Given the description of an element on the screen output the (x, y) to click on. 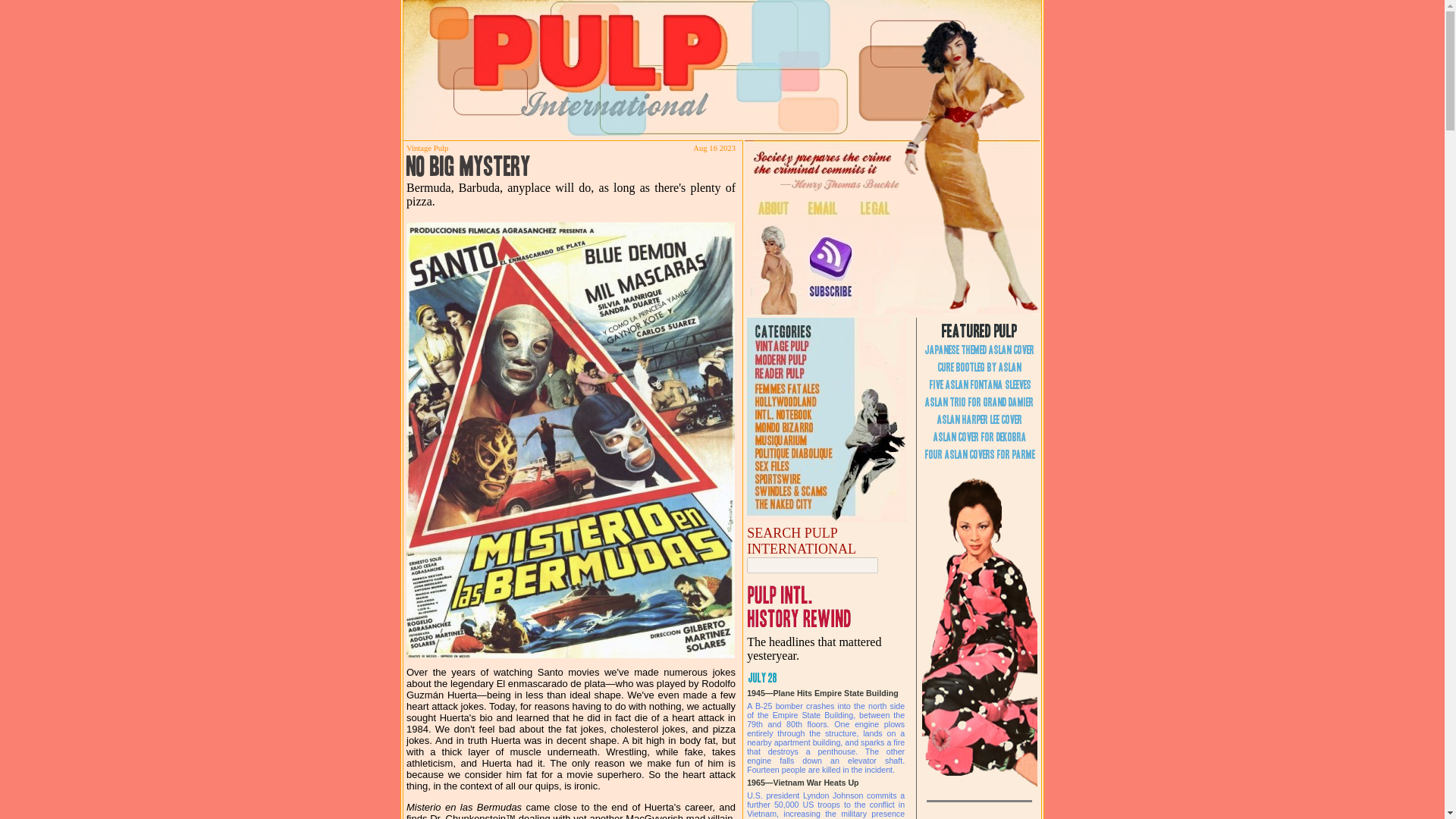
Vintage Pulp (427, 148)
